Given the description of an element on the screen output the (x, y) to click on. 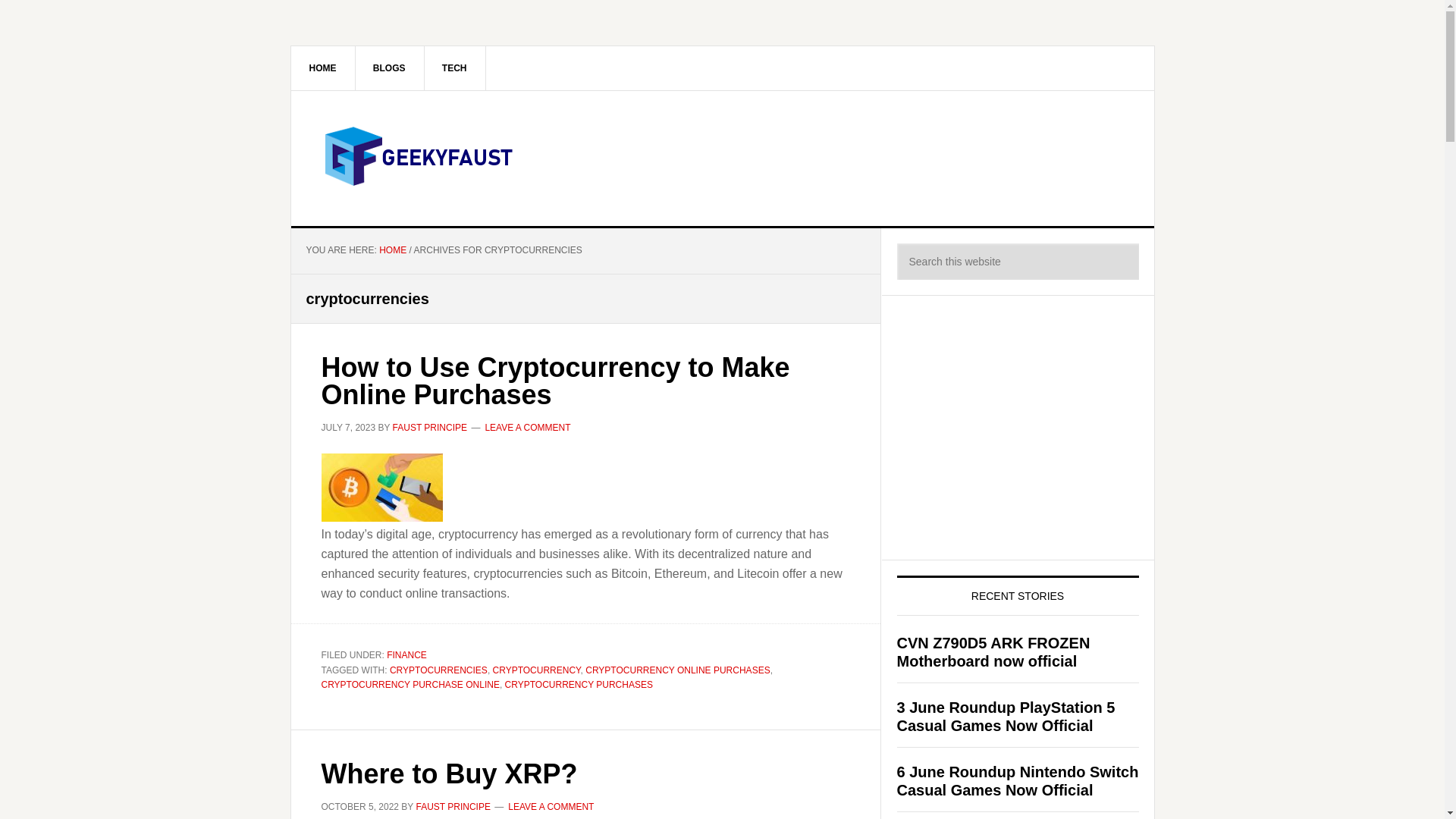
Where to Buy XRP? (449, 773)
BLOGS (390, 67)
LEAVE A COMMENT (527, 426)
CRYPTOCURRENCY ONLINE PURCHASES (677, 669)
FAUST PRINCIPE (451, 805)
How to Use Cryptocurrency to Make Online Purchases (555, 381)
CRYPTOCURRENCIES (438, 669)
HOME (392, 249)
FINANCE (406, 655)
GEEKYFAUST (419, 155)
CRYPTOCURRENCY (536, 669)
FAUST PRINCIPE (430, 426)
LEAVE A COMMENT (551, 805)
CRYPTOCURRENCY PURCHASE ONLINE (410, 684)
CRYPTOCURRENCY PURCHASES (578, 684)
